Given the description of an element on the screen output the (x, y) to click on. 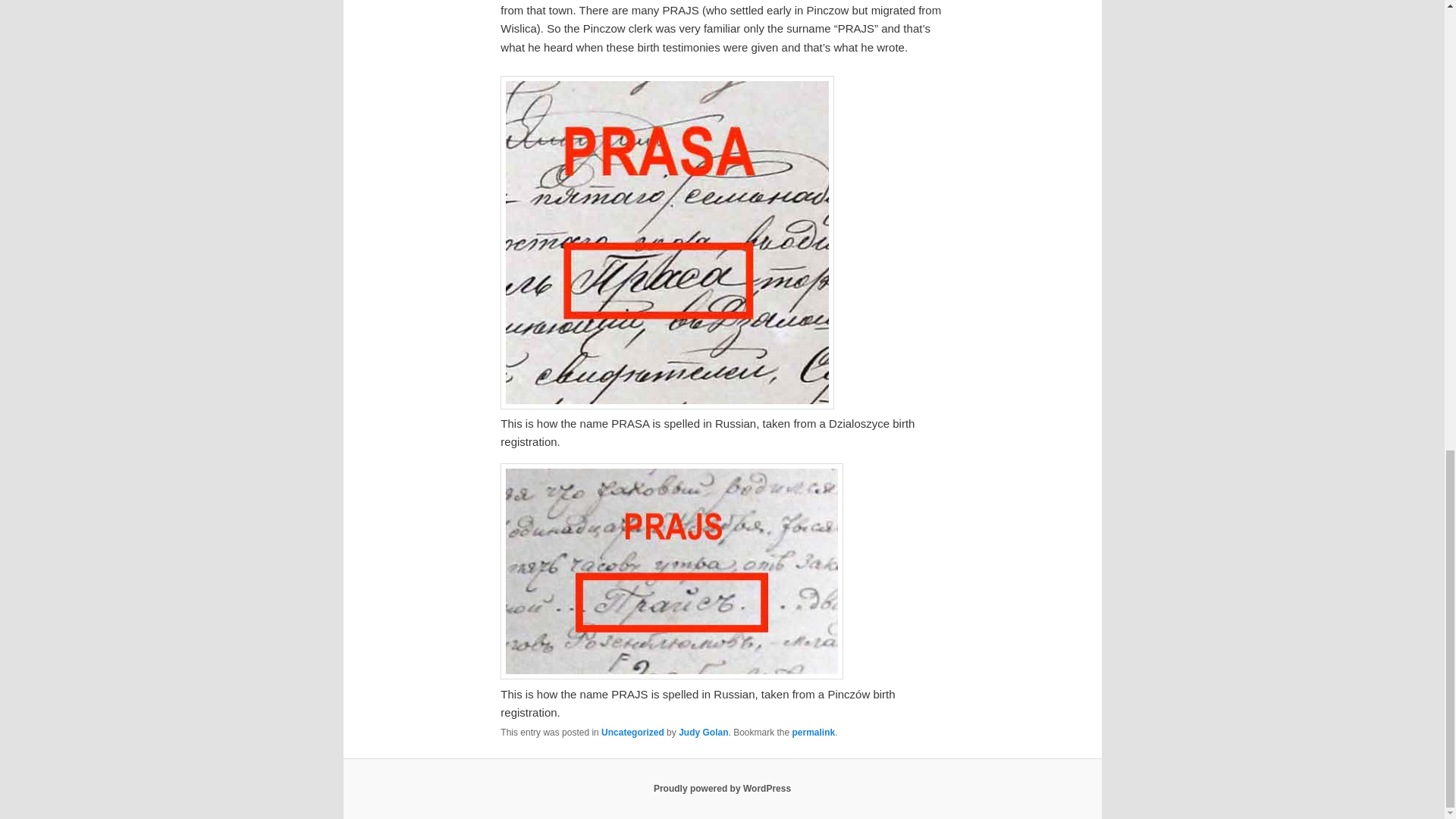
Permalink to The Clerk Writes What he Hears (813, 732)
Proudly powered by WordPress (721, 787)
permalink (813, 732)
Uncategorized (632, 732)
Judy Golan (703, 732)
Semantic Personal Publishing Platform (721, 787)
